Given the description of an element on the screen output the (x, y) to click on. 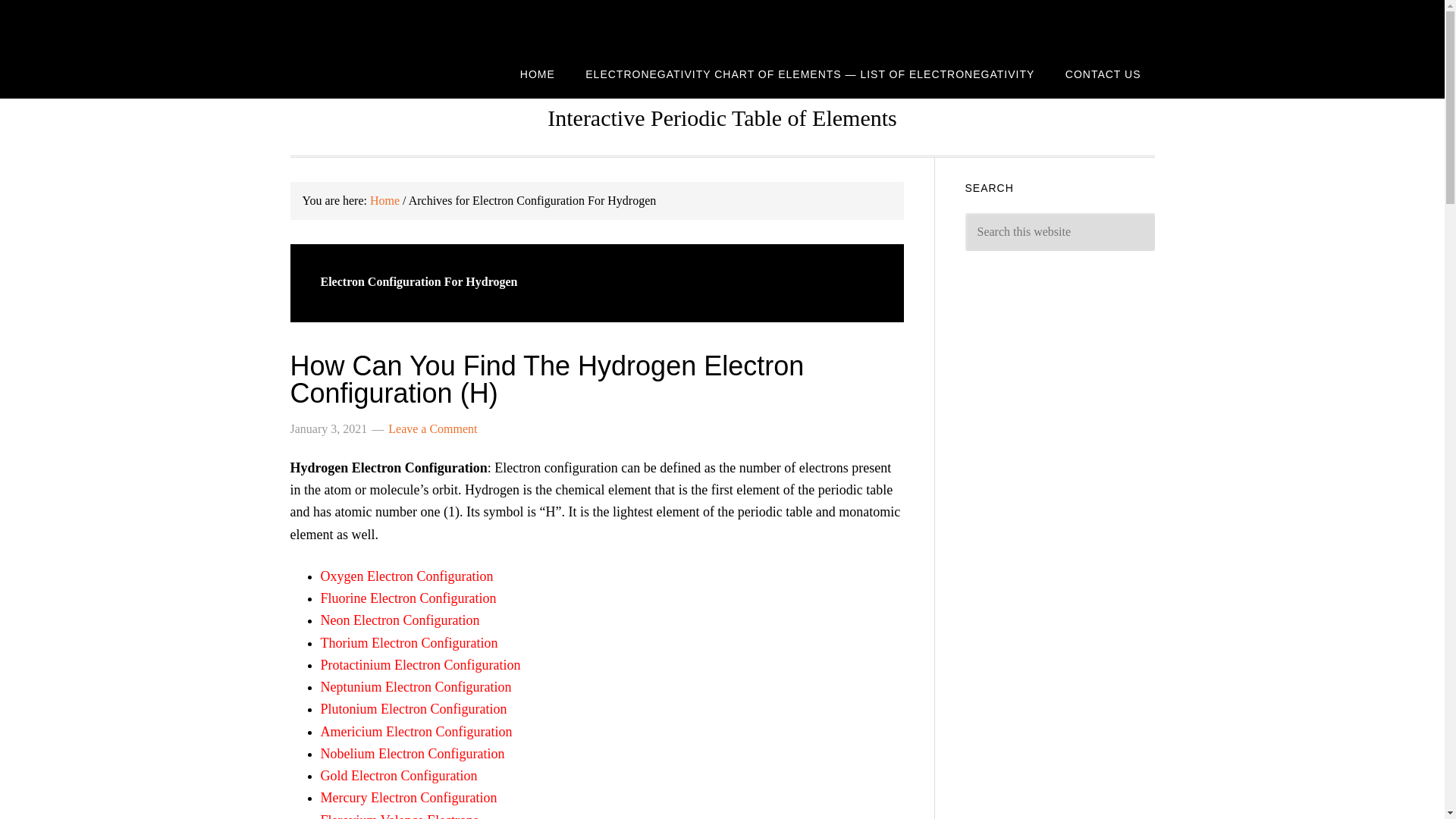
Neptunium Electron Configuration (415, 686)
HOME (537, 73)
Plutonium Electron Configuration (413, 708)
Mercury Electron Configuration (408, 797)
Leave a Comment (432, 428)
Nobelium Electron Configuration (411, 753)
Thorium Electron Configuration (408, 642)
Gold Electron Configuration (398, 775)
CONTACT US (1102, 73)
Home (383, 200)
Flerovium Valence Electrons (399, 816)
Fluorine Electron Configuration (408, 598)
Protactinium Electron Configuration (419, 664)
Neon Electron Configuration (399, 620)
